Given the description of an element on the screen output the (x, y) to click on. 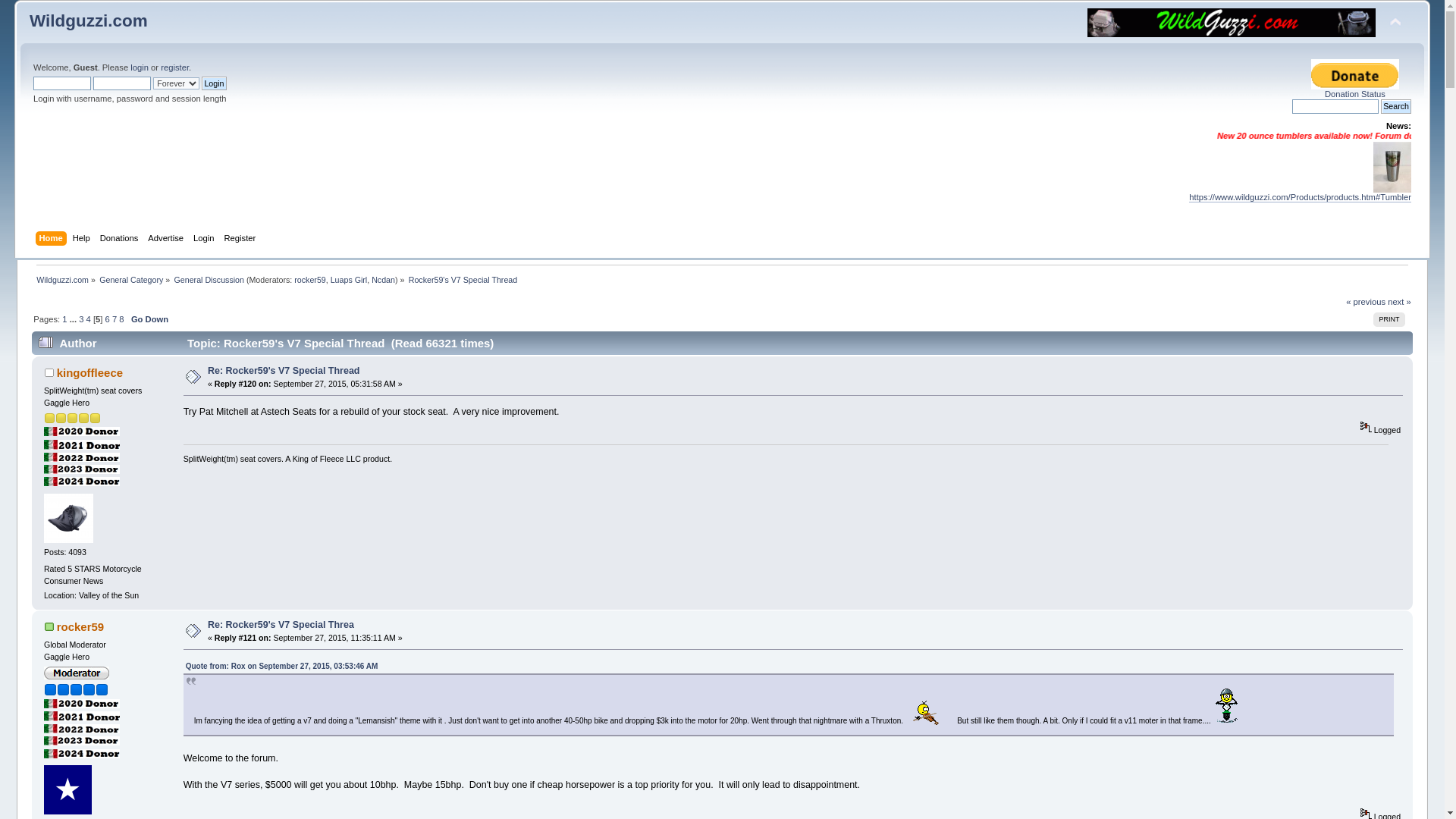
rocker59 (79, 626)
General Category (131, 279)
Shrink or expand the header. (1395, 22)
rocker59 (309, 279)
Login (204, 239)
Go Down (149, 318)
Board Moderator (349, 279)
Search (1395, 106)
4 (87, 318)
Re: Rocker59's V7 Special Thread (283, 370)
Ncdan (382, 279)
bike-037 (1226, 704)
3 (80, 318)
register (174, 67)
Donation Status (1355, 89)
